Given the description of an element on the screen output the (x, y) to click on. 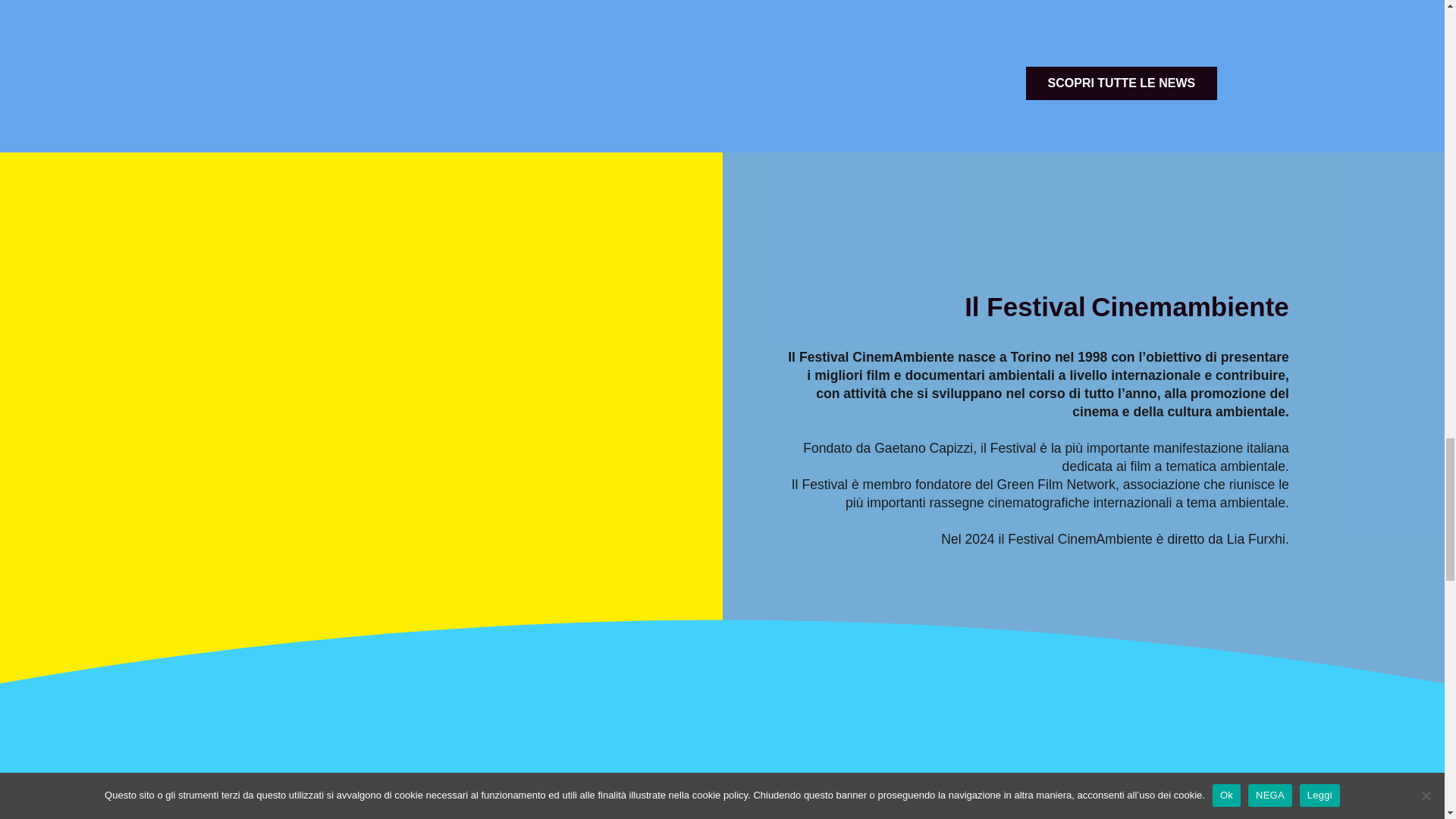
News (1121, 83)
